Given the description of an element on the screen output the (x, y) to click on. 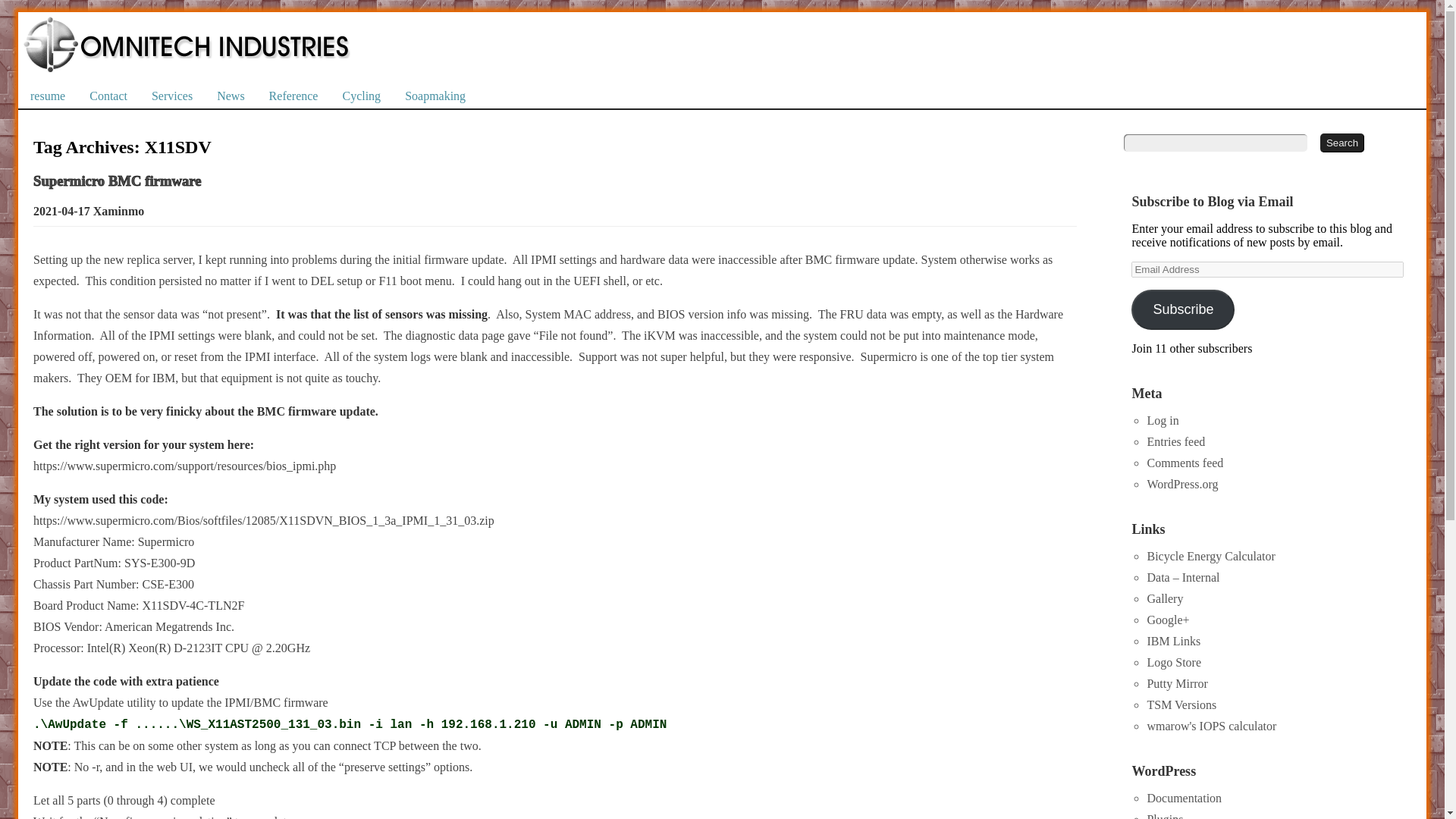
IBM Links (1173, 640)
Xaminmo (118, 211)
TSM Versions (1181, 704)
Putty Mirror (1177, 683)
Subscribe (1182, 309)
WordPress.org (1182, 483)
wmarow's IOPS calculator (1211, 725)
View all posts by xaminmo (118, 211)
News (230, 96)
2021-04-17 (61, 211)
Entries feed (1176, 440)
OmniTech Industries (185, 30)
Gallery (1164, 598)
Bicycle Energy Calculator (1211, 555)
